Given the description of an element on the screen output the (x, y) to click on. 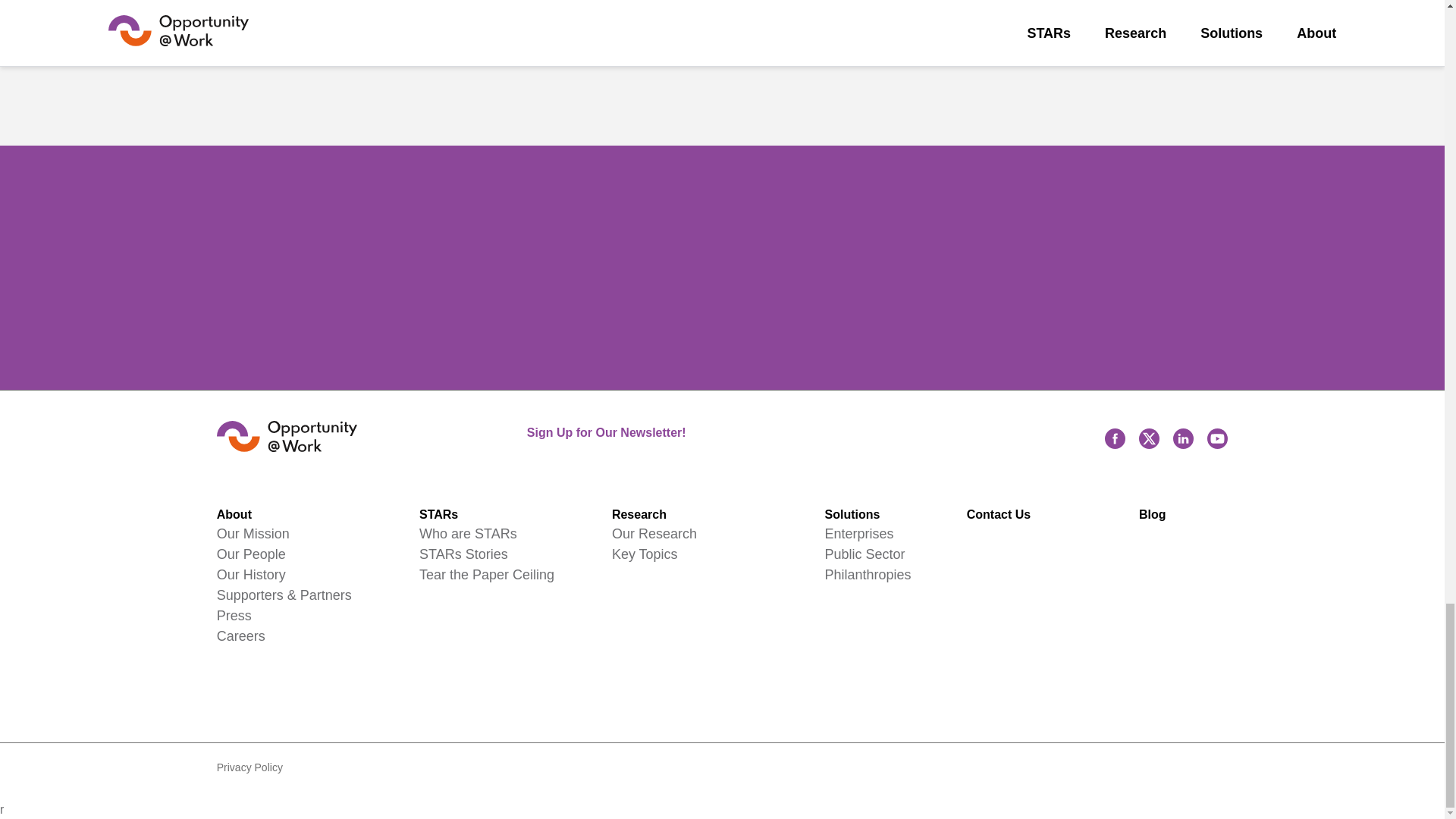
Facebook (1115, 438)
LinkedIn (1183, 438)
Youtube (1217, 438)
Twitter (1148, 438)
